Given the description of an element on the screen output the (x, y) to click on. 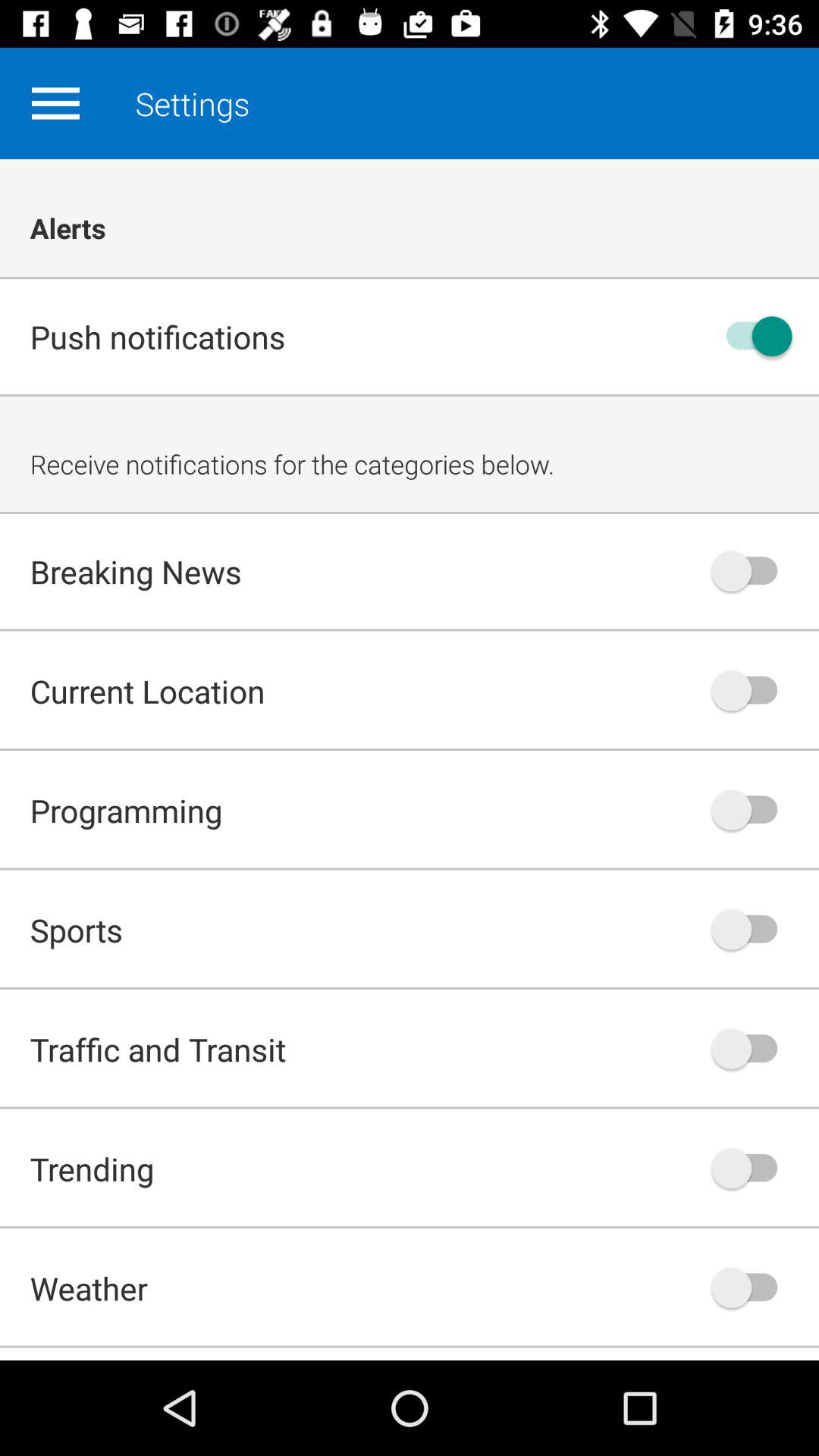
activate sports (751, 929)
